Given the description of an element on the screen output the (x, y) to click on. 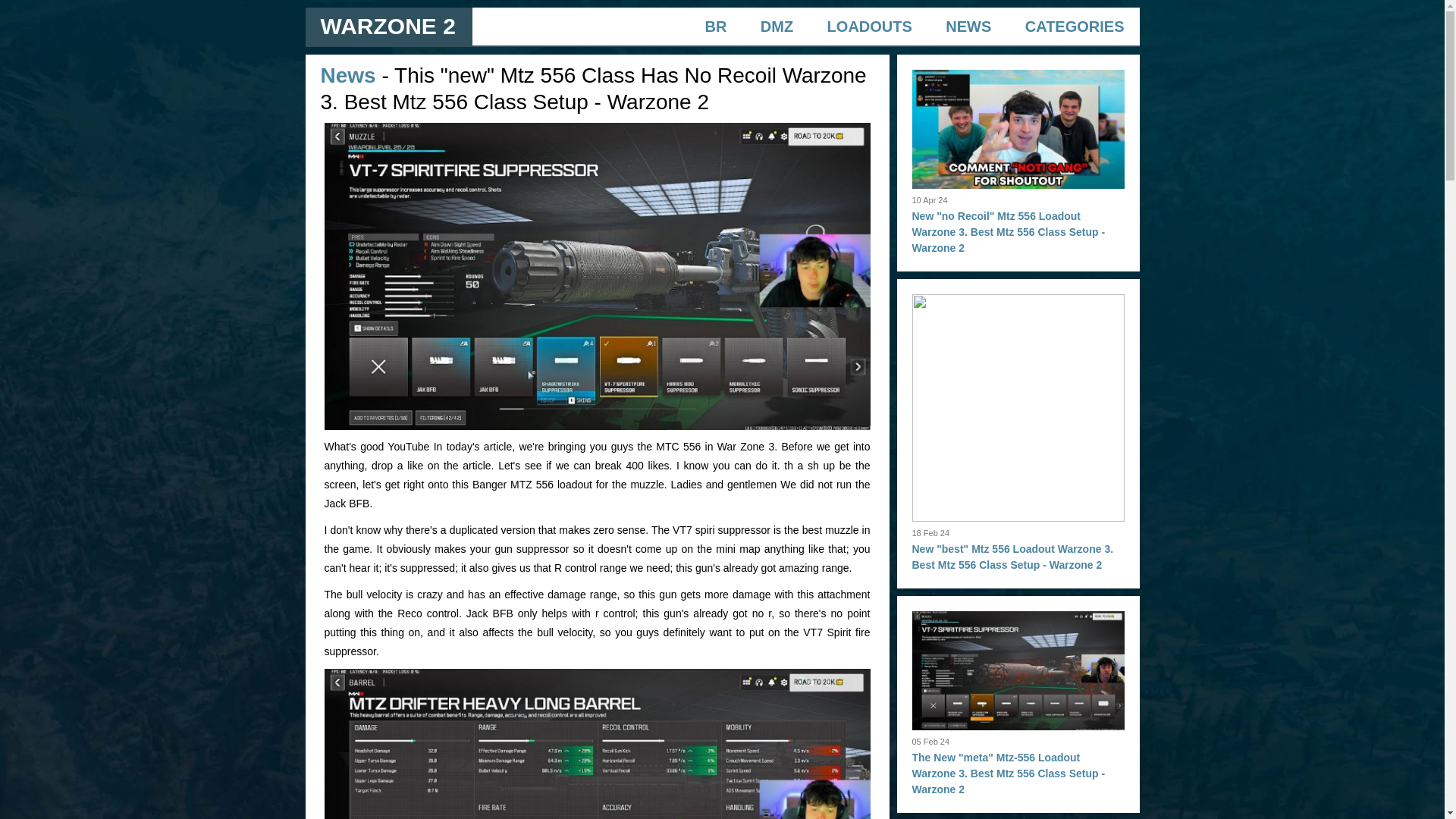
best mtz 556 class 3 (597, 744)
NEWS (967, 26)
LOADOUTS (869, 26)
WARZONE 2 (387, 26)
News (347, 74)
DMZ (776, 26)
CATEGORIES (1074, 26)
